Given the description of an element on the screen output the (x, y) to click on. 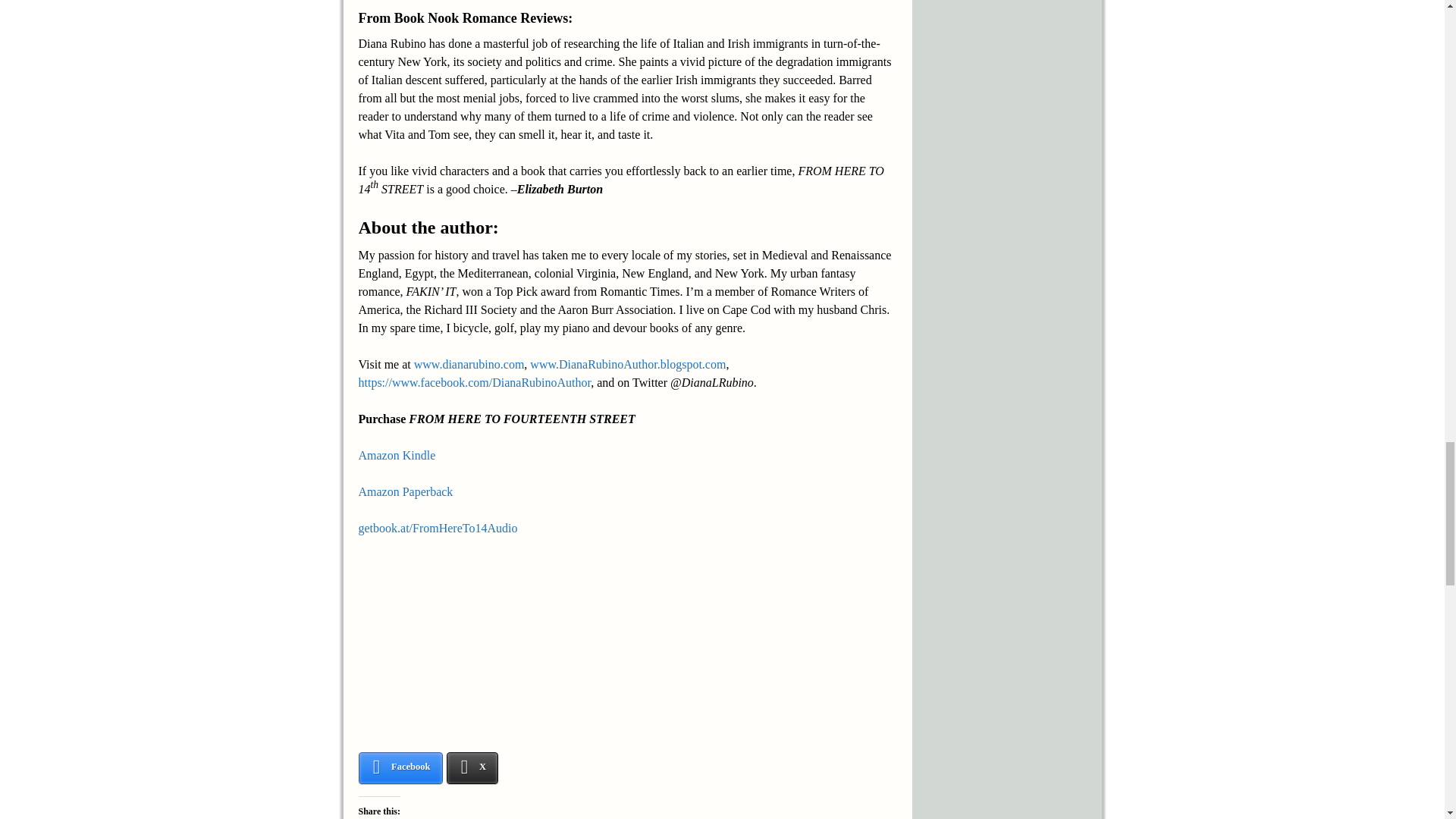
Share this article on Facebook (400, 767)
X (472, 767)
www.dianarubino.com (468, 364)
Amazon Paperback (405, 491)
www.DianaRubinoAuthor.blogspot.com (627, 364)
Amazon Kindle (396, 454)
Facebook (400, 767)
Share this article on X (472, 767)
